Given the description of an element on the screen output the (x, y) to click on. 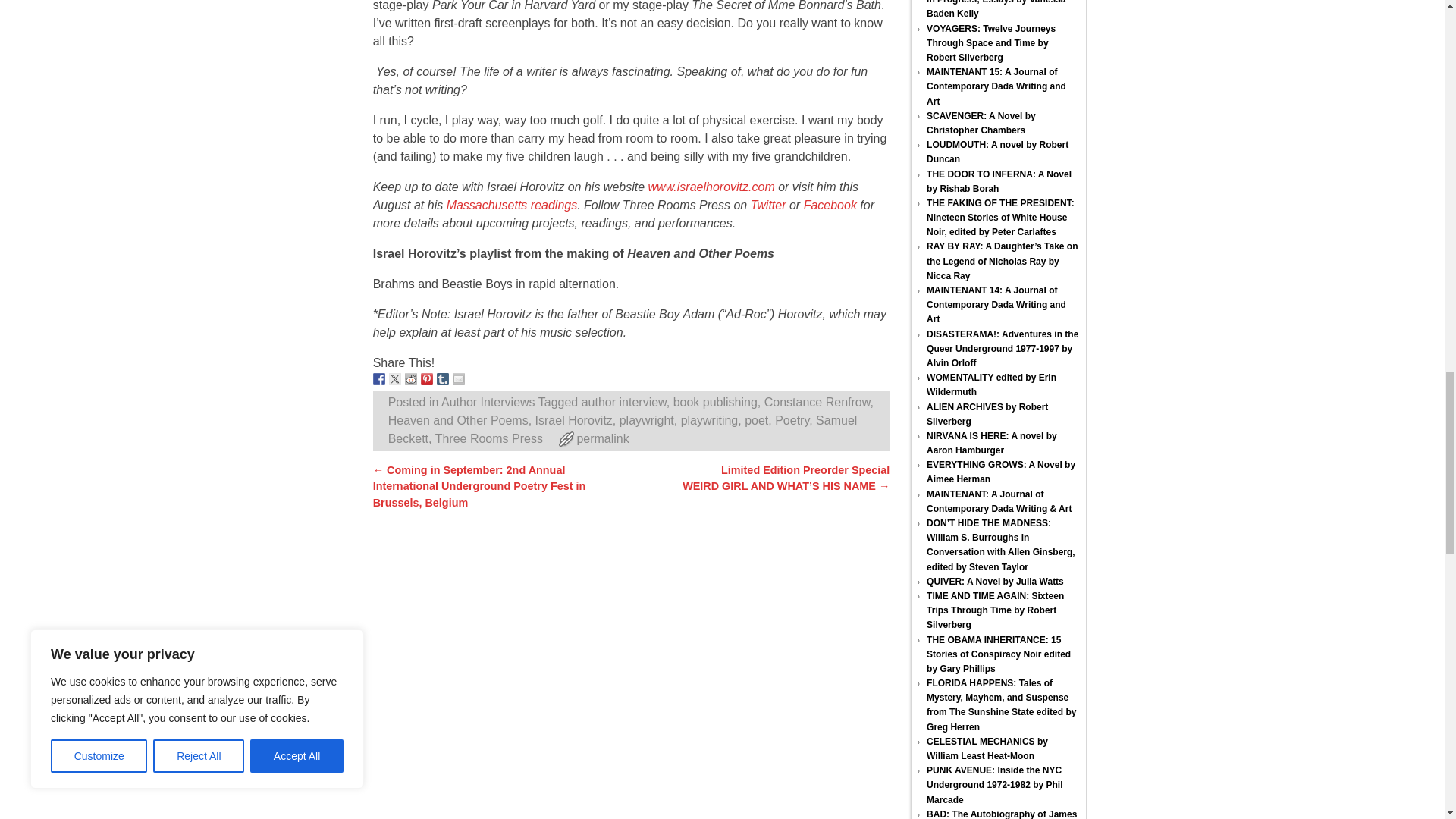
Massachusetts readings (512, 205)
Share on Reddit (410, 378)
Share on tumblr (442, 378)
Twitter (768, 205)
Share on Facebook (378, 378)
Share by email (458, 378)
Pin it with Pinterest (426, 378)
www.israelhorovitz.com (710, 186)
Share on Twitter (394, 378)
